Given the description of an element on the screen output the (x, y) to click on. 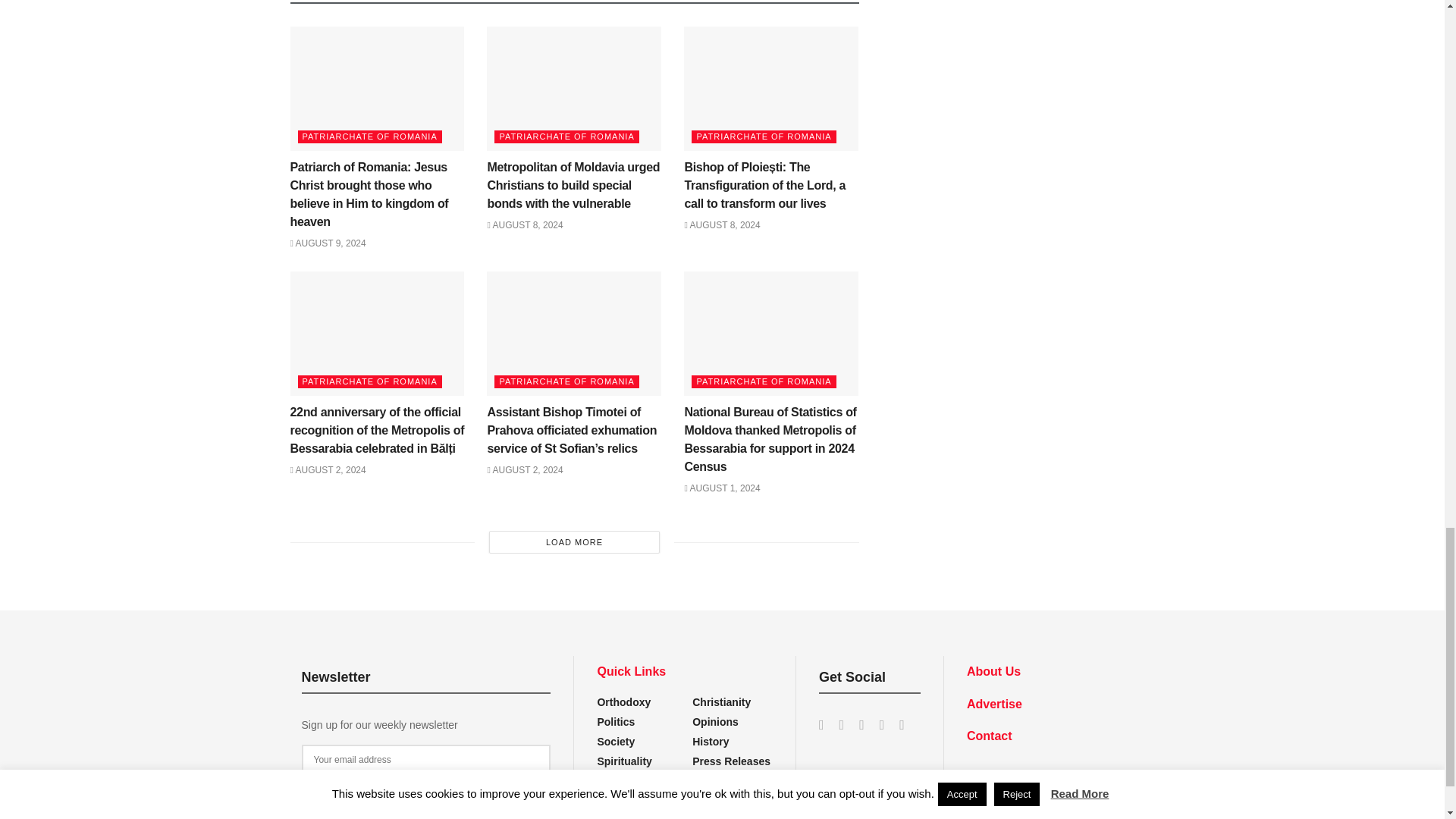
You can add some category description here. (731, 761)
Sign up (426, 789)
OrthodoxTimes.com (1033, 777)
You can add some category description here. (711, 741)
